Given the description of an element on the screen output the (x, y) to click on. 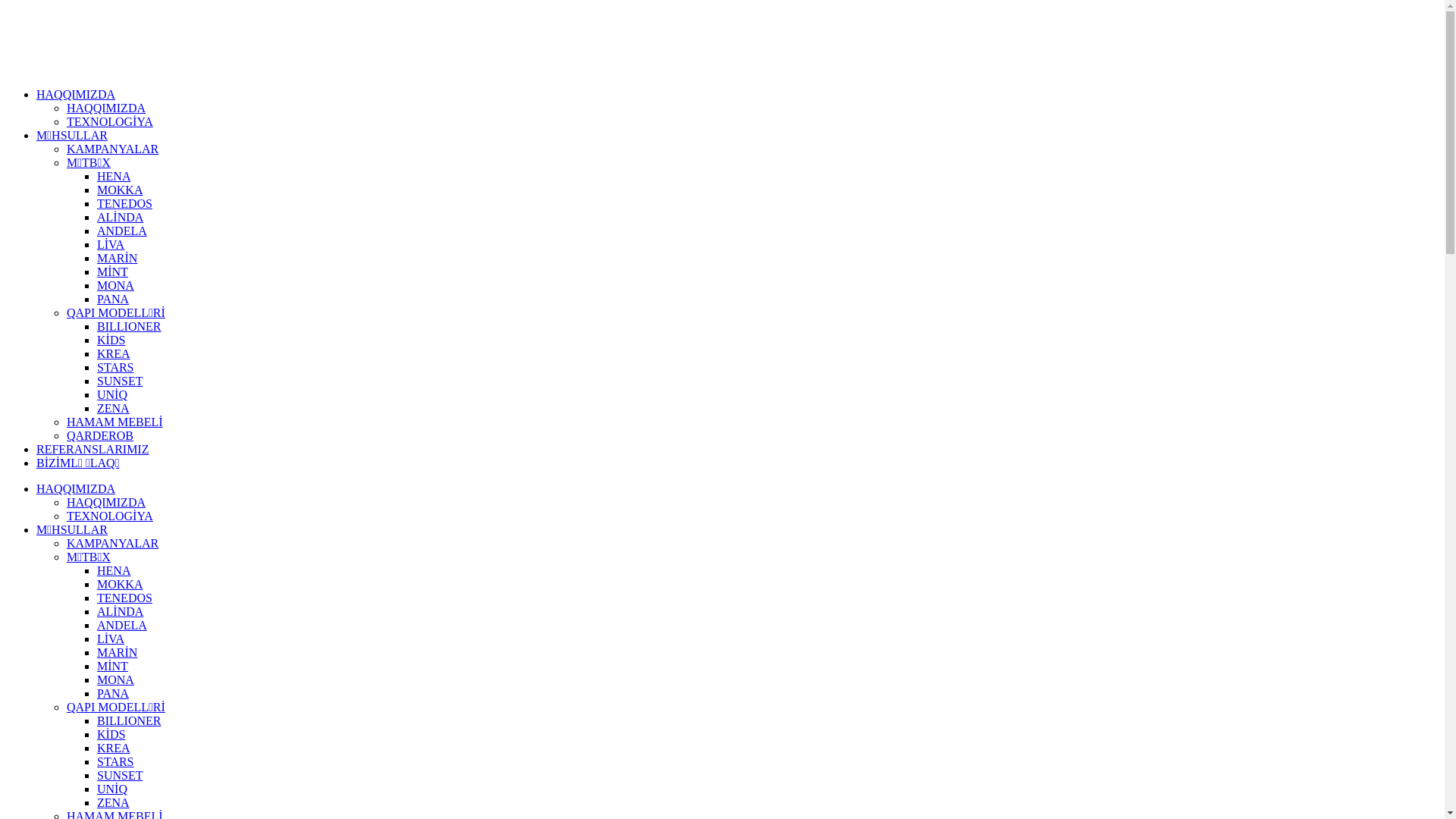
MOKKA Element type: text (119, 189)
KREA Element type: text (113, 353)
TENEDOS Element type: text (124, 203)
HAQQIMIZDA Element type: text (75, 93)
ZENA Element type: text (113, 407)
MOKKA Element type: text (119, 583)
ANDELA Element type: text (122, 230)
MONA Element type: text (115, 285)
STARS Element type: text (115, 366)
SUNSET Element type: text (119, 774)
QARDEROB Element type: text (99, 435)
STARS Element type: text (115, 761)
MONA Element type: text (115, 679)
HAQQIMIZDA Element type: text (105, 107)
TENEDOS Element type: text (124, 597)
REFERANSLARIMIZ Element type: text (92, 448)
HENA Element type: text (113, 175)
BILLIONER Element type: text (128, 720)
KREA Element type: text (113, 747)
HAQQIMIZDA Element type: text (105, 501)
BILLIONER Element type: text (128, 326)
KAMPANYALAR Element type: text (112, 148)
ZENA Element type: text (113, 802)
KAMPANYALAR Element type: text (112, 542)
HAQQIMIZDA Element type: text (75, 488)
ANDELA Element type: text (122, 624)
SUNSET Element type: text (119, 380)
PANA Element type: text (112, 693)
PANA Element type: text (112, 298)
HENA Element type: text (113, 570)
